Given the description of an element on the screen output the (x, y) to click on. 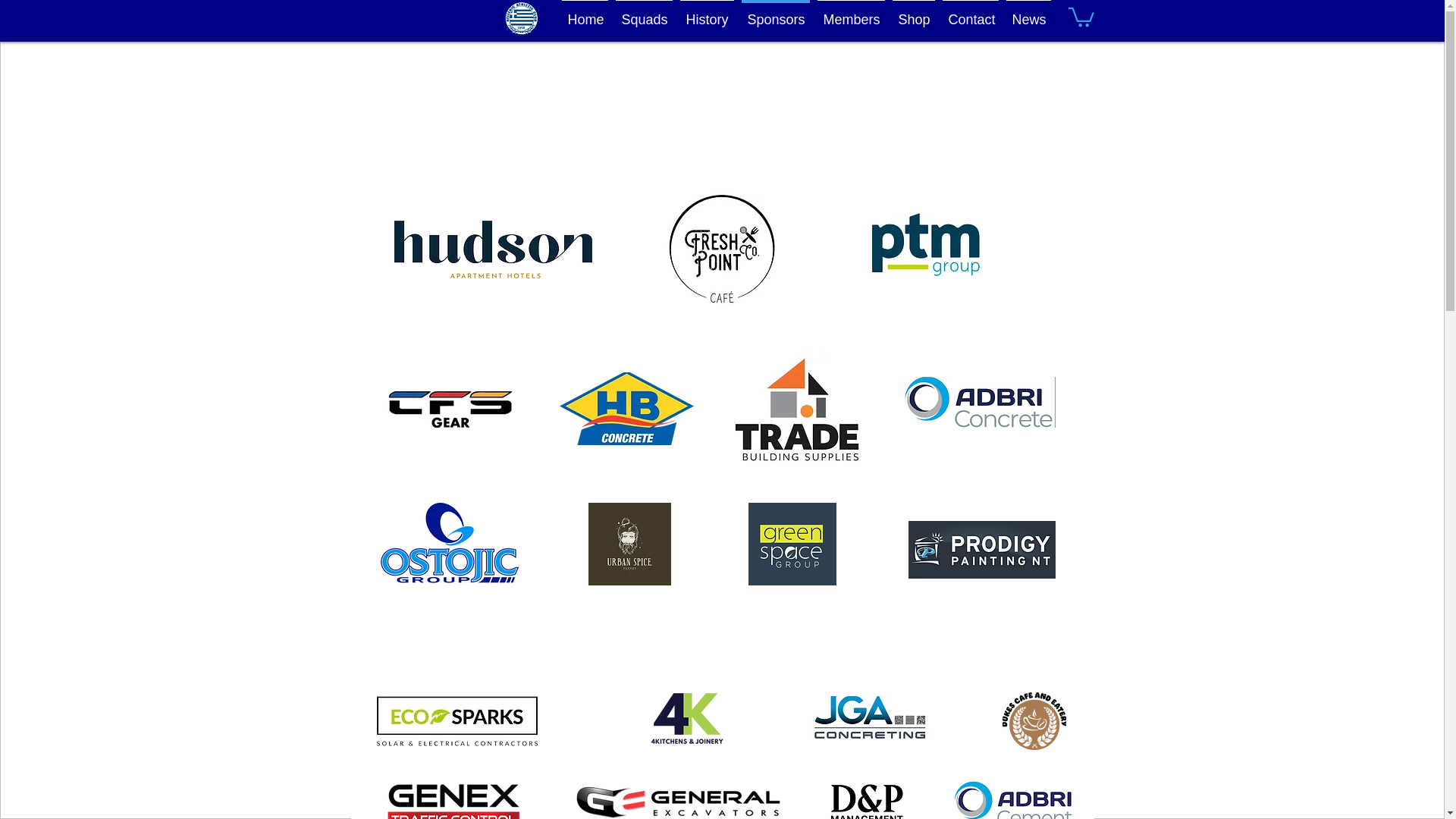
Sponsors (774, 13)
Squads (643, 13)
Shop (913, 13)
HELLENIC A.C. (144, 44)
Members (850, 13)
Contact (971, 13)
News (1028, 13)
History (707, 13)
Home (584, 13)
